Given the description of an element on the screen output the (x, y) to click on. 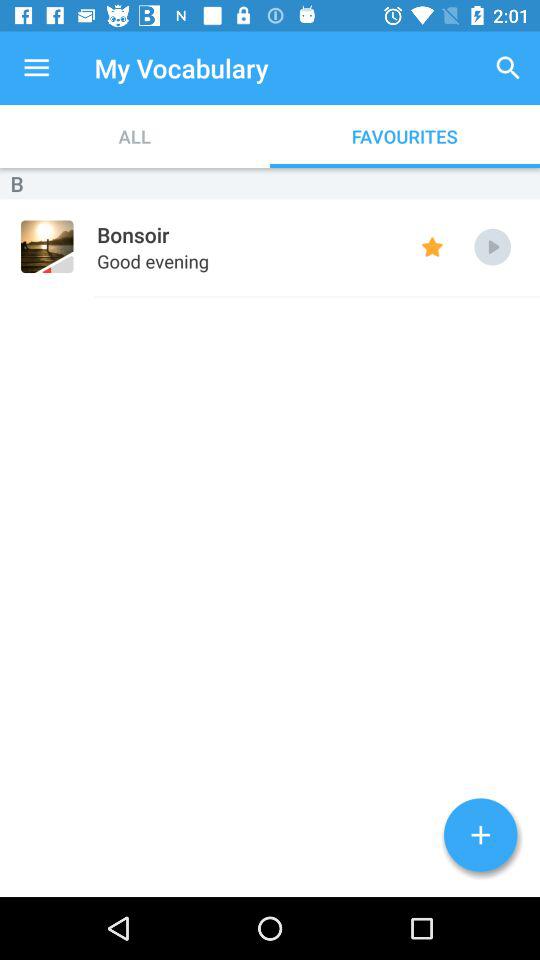
play selection (492, 246)
